Given the description of an element on the screen output the (x, y) to click on. 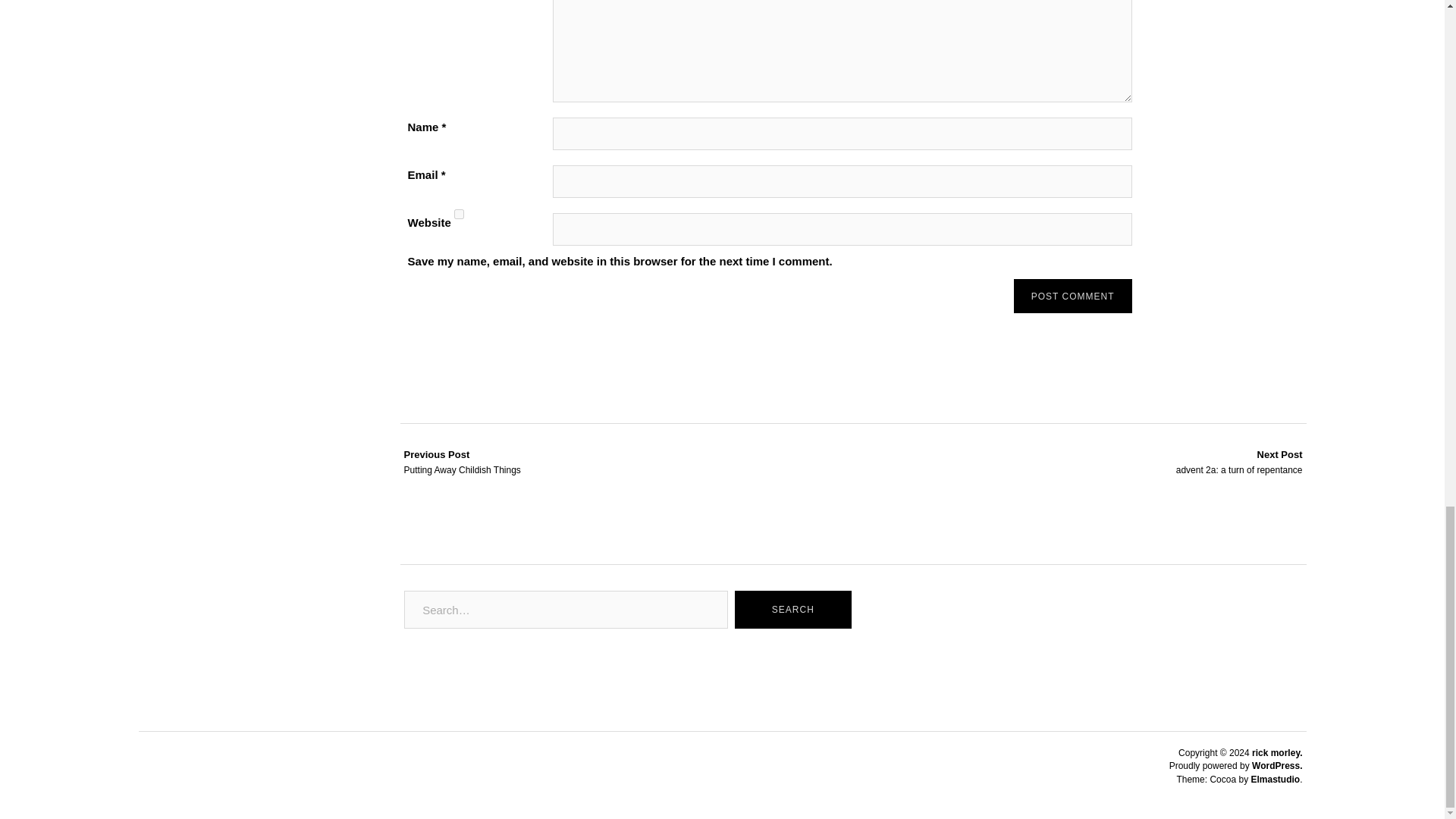
Search (792, 609)
Post Comment (1072, 295)
yes (459, 214)
WordPress. (1276, 765)
Elmastudio (1275, 778)
rick morley. (1276, 752)
Post Comment (1072, 295)
Search (1239, 462)
